Given the description of an element on the screen output the (x, y) to click on. 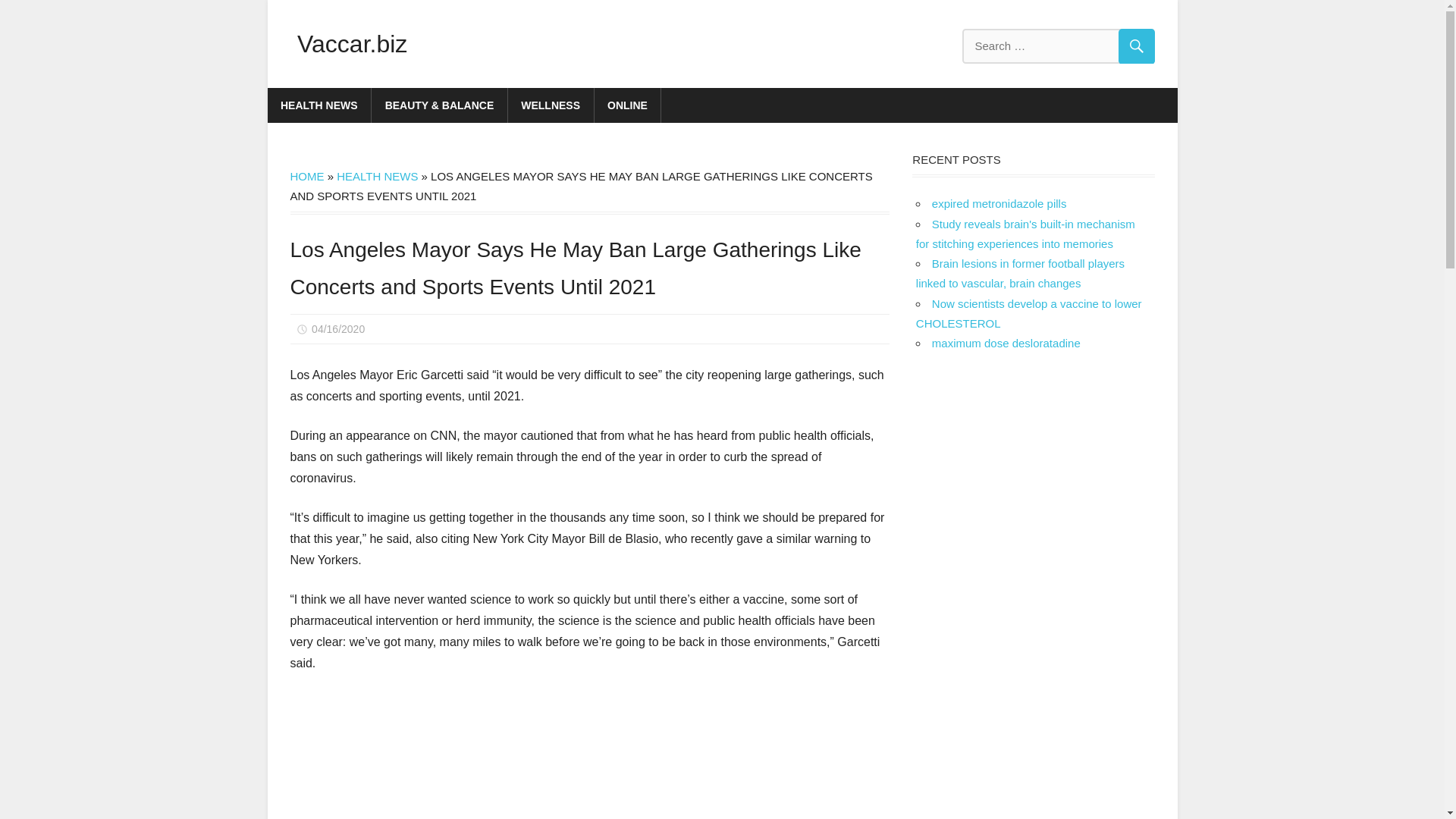
HEALTH NEWS (376, 175)
Search for: (1057, 46)
Now scientists develop a vaccine to lower CHOLESTEROL (1028, 313)
WELLNESS (551, 104)
Vaccar.biz (352, 43)
ONLINE (628, 104)
HEALTH NEWS (318, 104)
7:45 pm (338, 328)
maximum dose desloratadine (1005, 342)
